Given the description of an element on the screen output the (x, y) to click on. 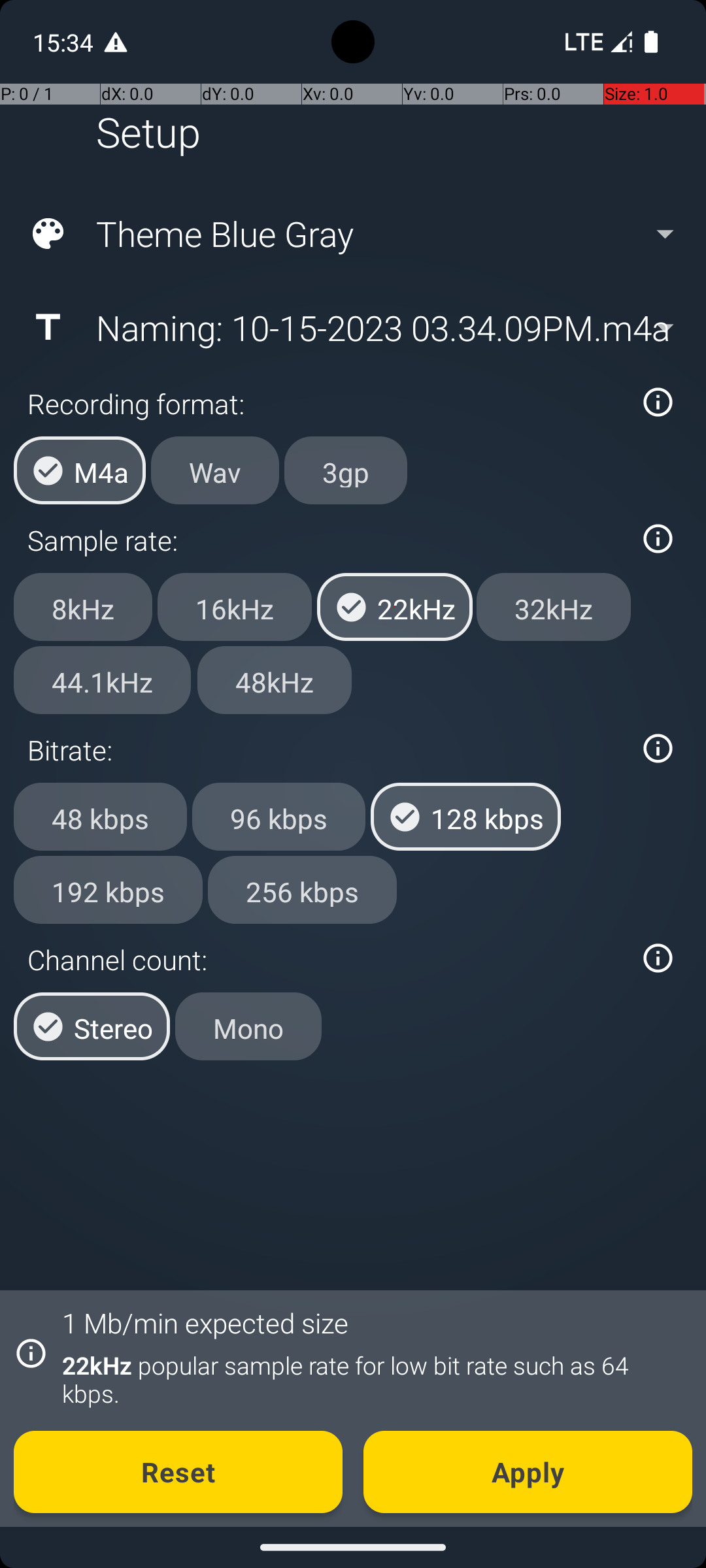
1 Mb/min expected size Element type: android.widget.TextView (205, 1322)
22kHz popular sample rate for low bit rate such as 64 kbps. Element type: android.widget.TextView (370, 1378)
Reset Element type: android.widget.Button (177, 1471)
Apply Element type: android.widget.Button (527, 1471)
Setup Element type: android.widget.TextView (148, 131)
Recording format: Element type: android.widget.TextView (325, 403)
M4a Element type: android.widget.TextView (79, 470)
Wav Element type: android.widget.TextView (215, 470)
3gp Element type: android.widget.TextView (345, 470)
Sample rate: Element type: android.widget.TextView (325, 539)
44.1kHz Element type: android.widget.TextView (101, 680)
22kHz Element type: android.widget.TextView (394, 606)
16kHz Element type: android.widget.TextView (234, 606)
32kHz Element type: android.widget.TextView (553, 606)
48kHz Element type: android.widget.TextView (274, 680)
8kHz Element type: android.widget.TextView (82, 606)
Bitrate: Element type: android.widget.TextView (325, 749)
128 kbps Element type: android.widget.TextView (465, 816)
192 kbps Element type: android.widget.TextView (107, 889)
256 kbps Element type: android.widget.TextView (301, 889)
48 kbps Element type: android.widget.TextView (99, 816)
96 kbps Element type: android.widget.TextView (278, 816)
Channel count: Element type: android.widget.TextView (325, 959)
Stereo Element type: android.widget.TextView (91, 1026)
Mono Element type: android.widget.TextView (248, 1026)
Theme Blue Gray Element type: android.widget.TextView (352, 233)
Naming: 10-15-2023 03.34.09PM.m4a Element type: android.widget.TextView (352, 327)
15:34 Element type: android.widget.TextView (64, 41)
Android System notification: Data warning Element type: android.widget.ImageView (115, 41)
Phone two bars. Element type: android.widget.FrameLayout (595, 41)
Battery 100 percent. Element type: android.widget.LinearLayout (650, 41)
No internet Element type: android.widget.ImageView (582, 41)
